Given the description of an element on the screen output the (x, y) to click on. 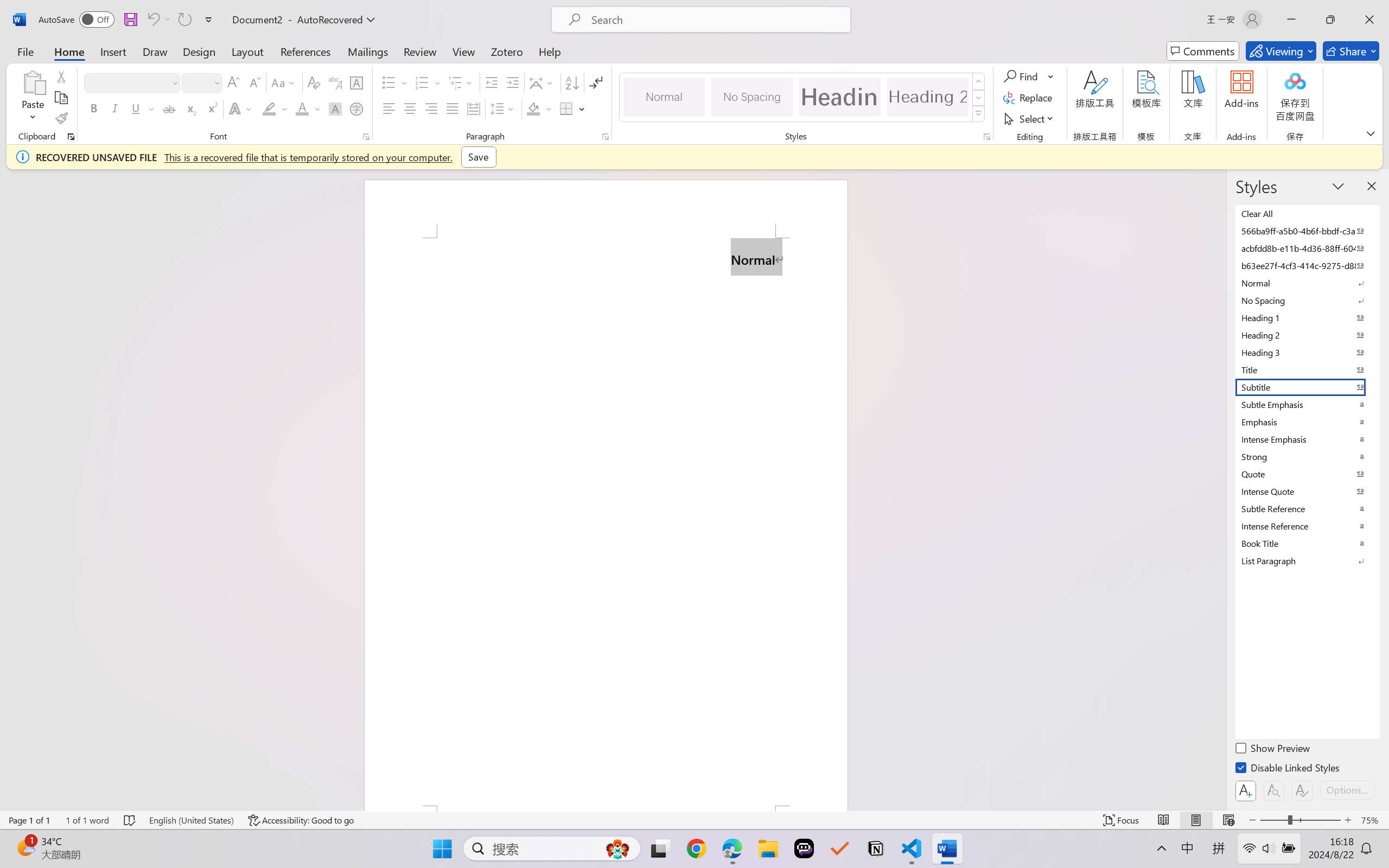
Shrink Font (253, 82)
Class: NetUIScrollBar (1219, 489)
Row up (978, 81)
Change Case (284, 82)
Show Preview (1273, 749)
Increase Indent (512, 82)
Distributed (473, 108)
Phonetic Guide... (334, 82)
Heading 1 (839, 96)
Subscript (190, 108)
